Given the description of an element on the screen output the (x, y) to click on. 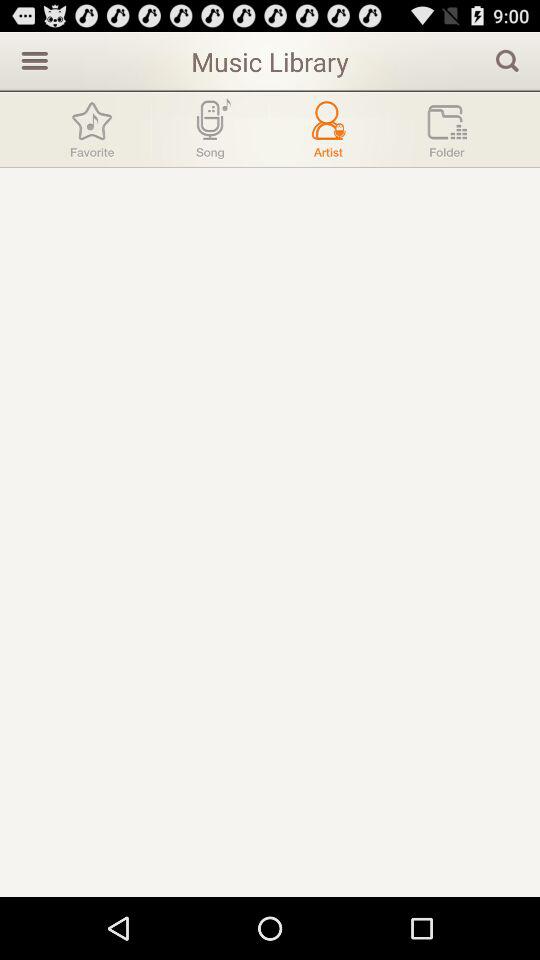
folder icon (447, 129)
